Given the description of an element on the screen output the (x, y) to click on. 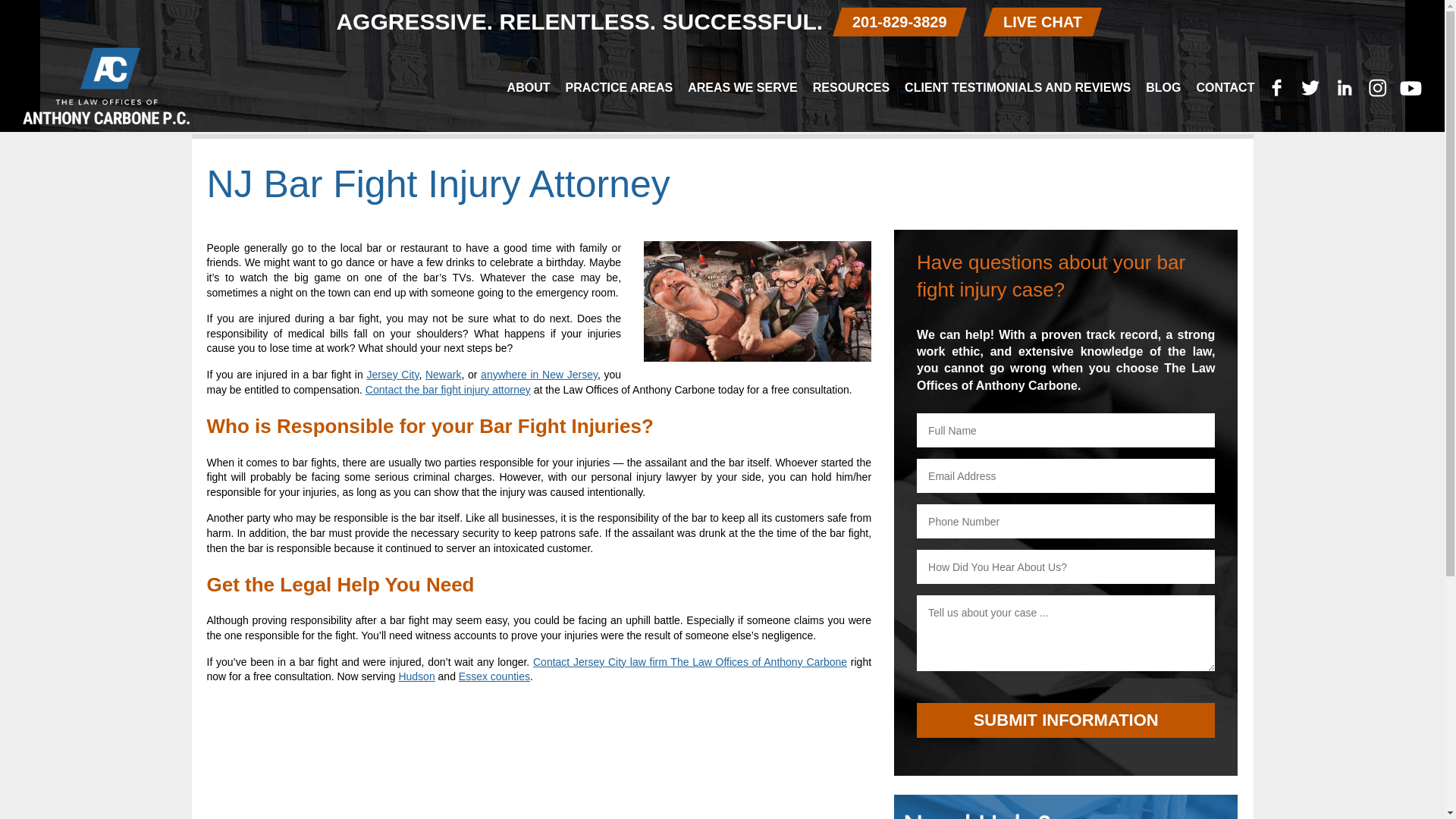
AREAS WE SERVE (742, 88)
PRACTICE AREAS (618, 88)
Submit Information (1065, 719)
201-829-3829 (895, 21)
ABOUT (528, 88)
LIVE CHAT (1038, 21)
